Given the description of an element on the screen output the (x, y) to click on. 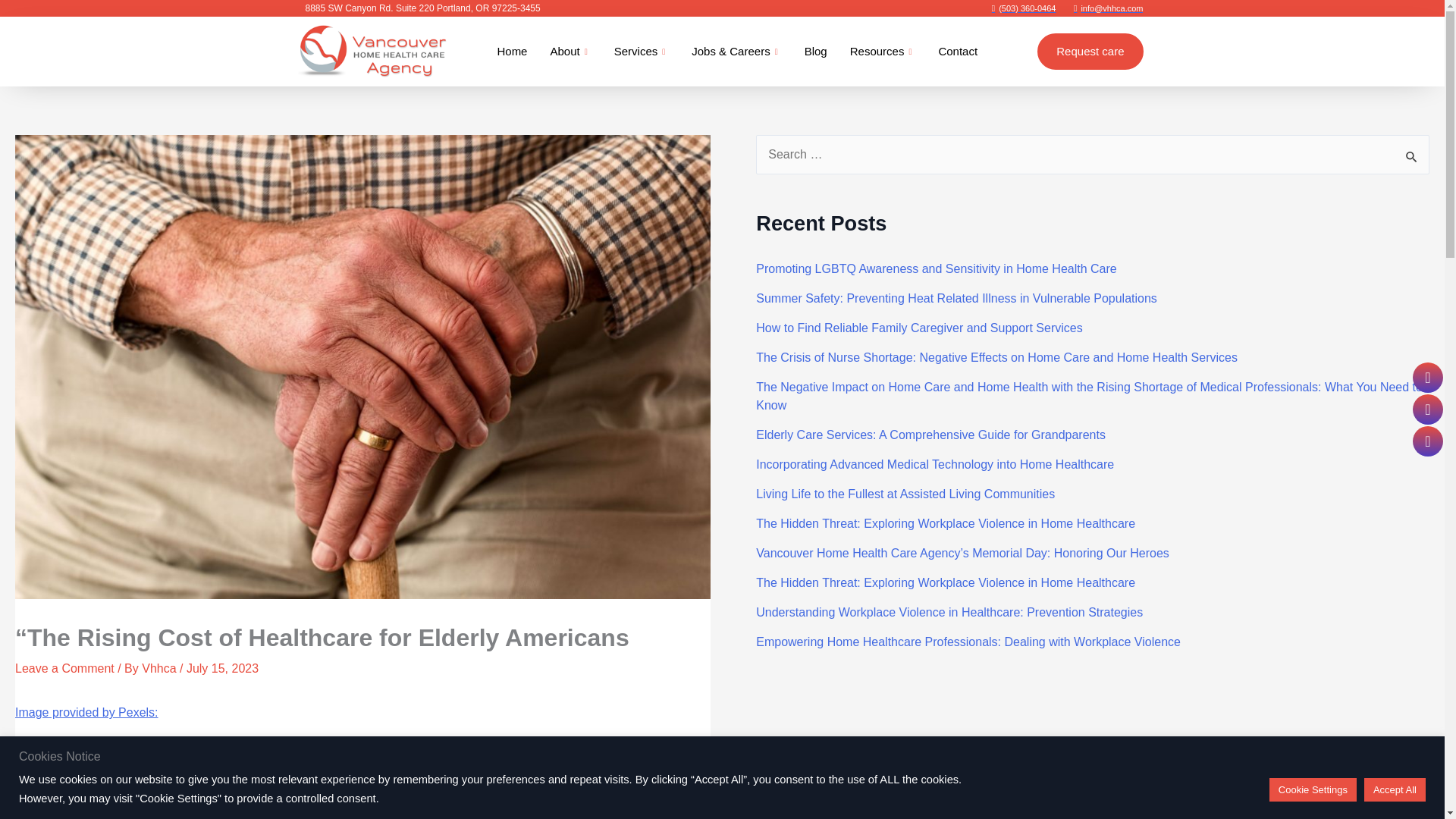
Resources (882, 51)
Home (511, 51)
Services (641, 51)
About (570, 51)
Search (1411, 156)
Search (1411, 156)
View all posts by Vhhca (160, 667)
Blog (815, 51)
